Given the description of an element on the screen output the (x, y) to click on. 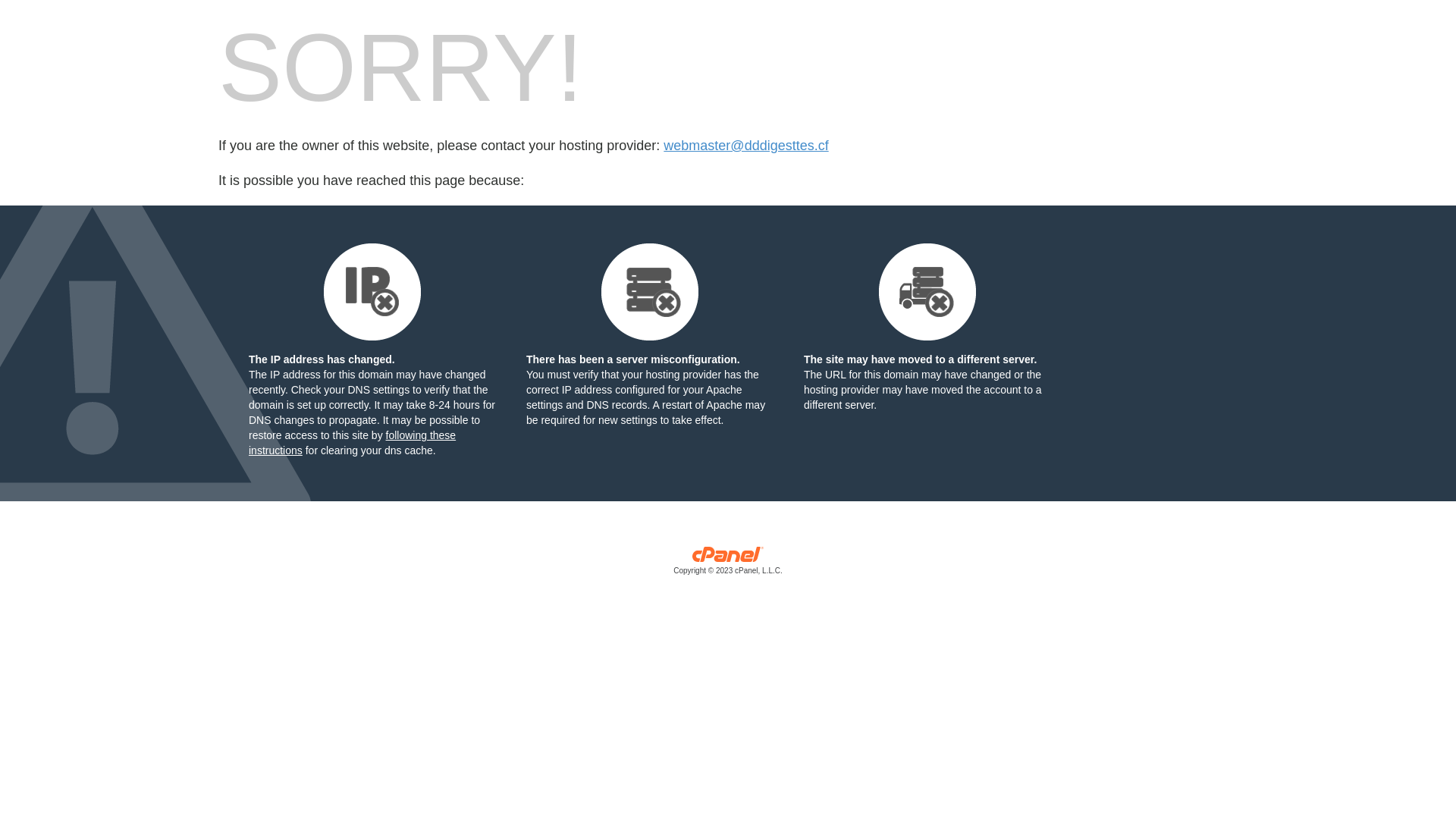
following these instructions Element type: text (351, 442)
webmaster@dddigesttes.cf Element type: text (745, 145)
